Given the description of an element on the screen output the (x, y) to click on. 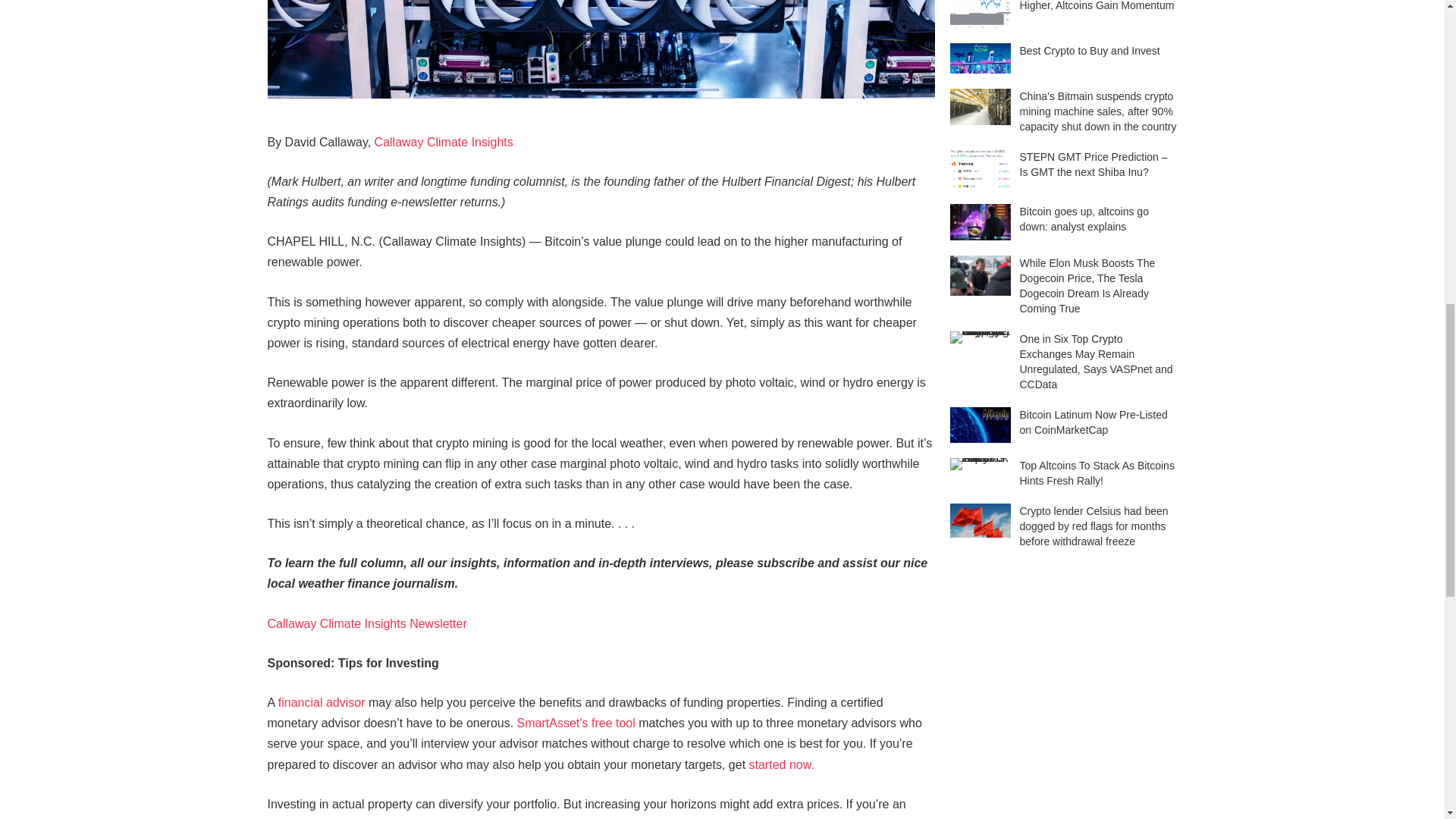
started now. (781, 764)
financial advisor (321, 702)
Callaway Climate Insights (443, 141)
Bitcoin and Ethereum Move Higher, Altcoins Gain Momentum (979, 13)
Callaway Climate Insights Newsletter (365, 623)
